Given the description of an element on the screen output the (x, y) to click on. 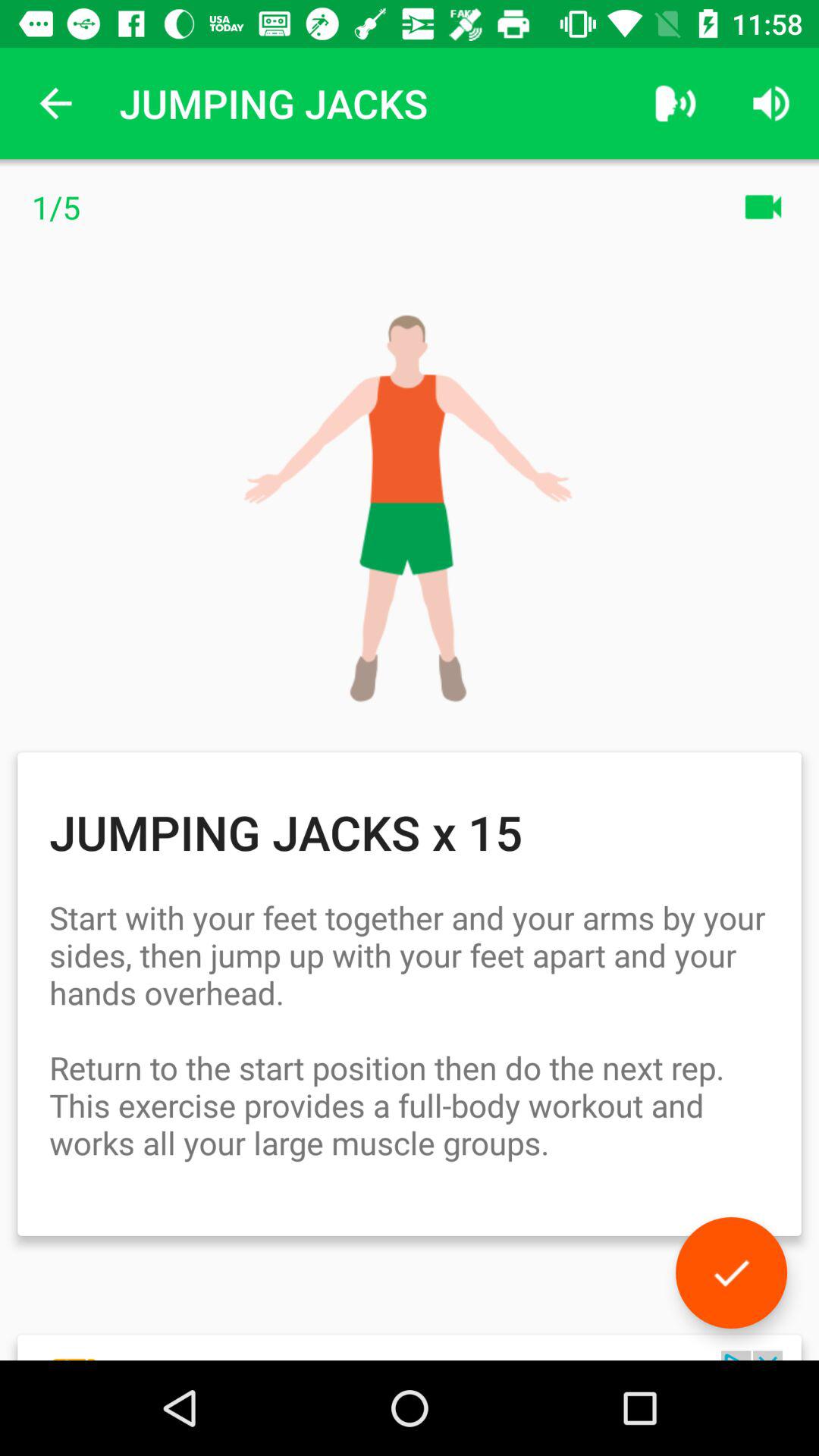
go to next page (731, 1272)
